Given the description of an element on the screen output the (x, y) to click on. 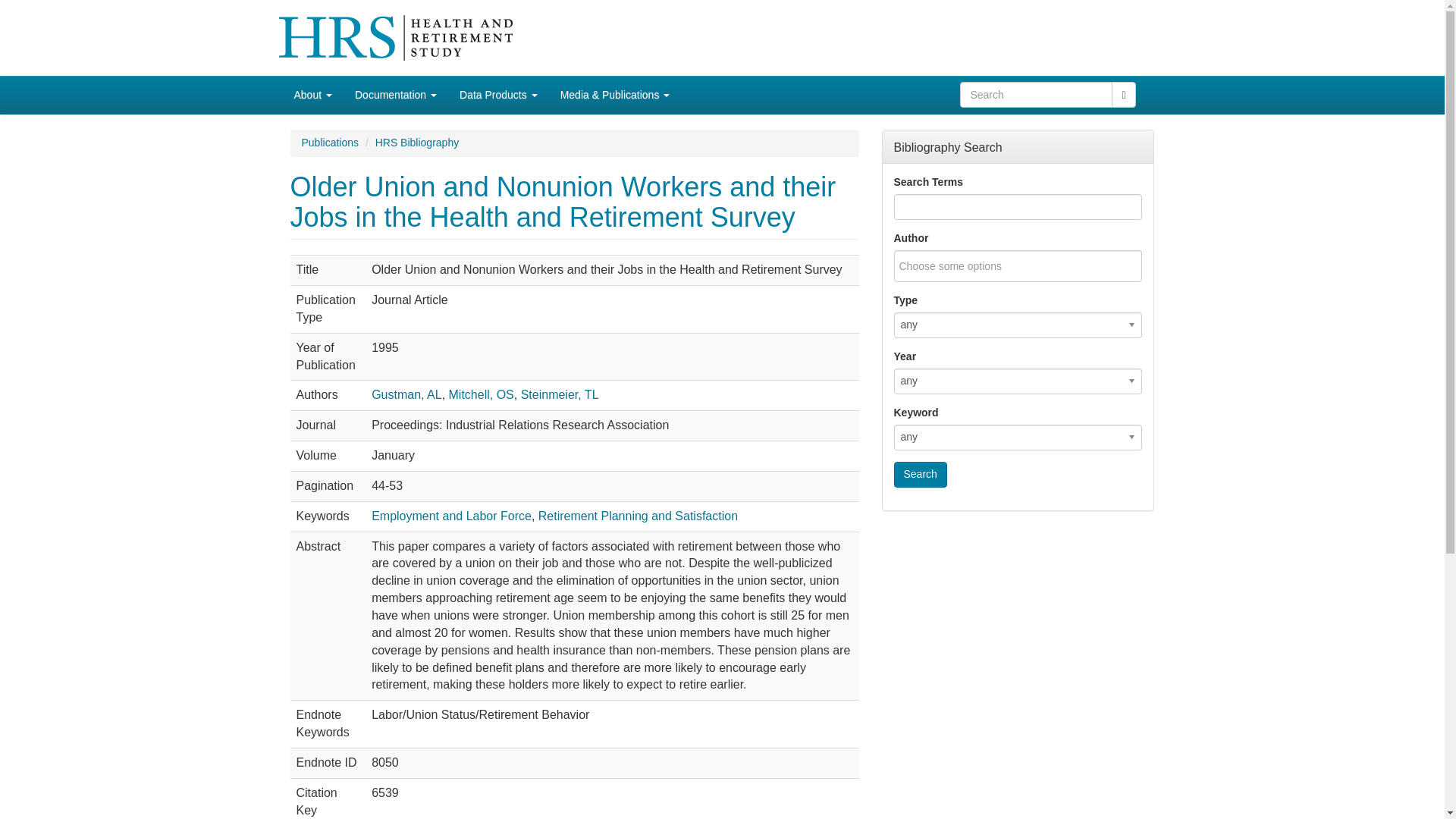
Documentation (395, 94)
About (312, 94)
Data Products (498, 94)
Choose some options (959, 266)
